Given the description of an element on the screen output the (x, y) to click on. 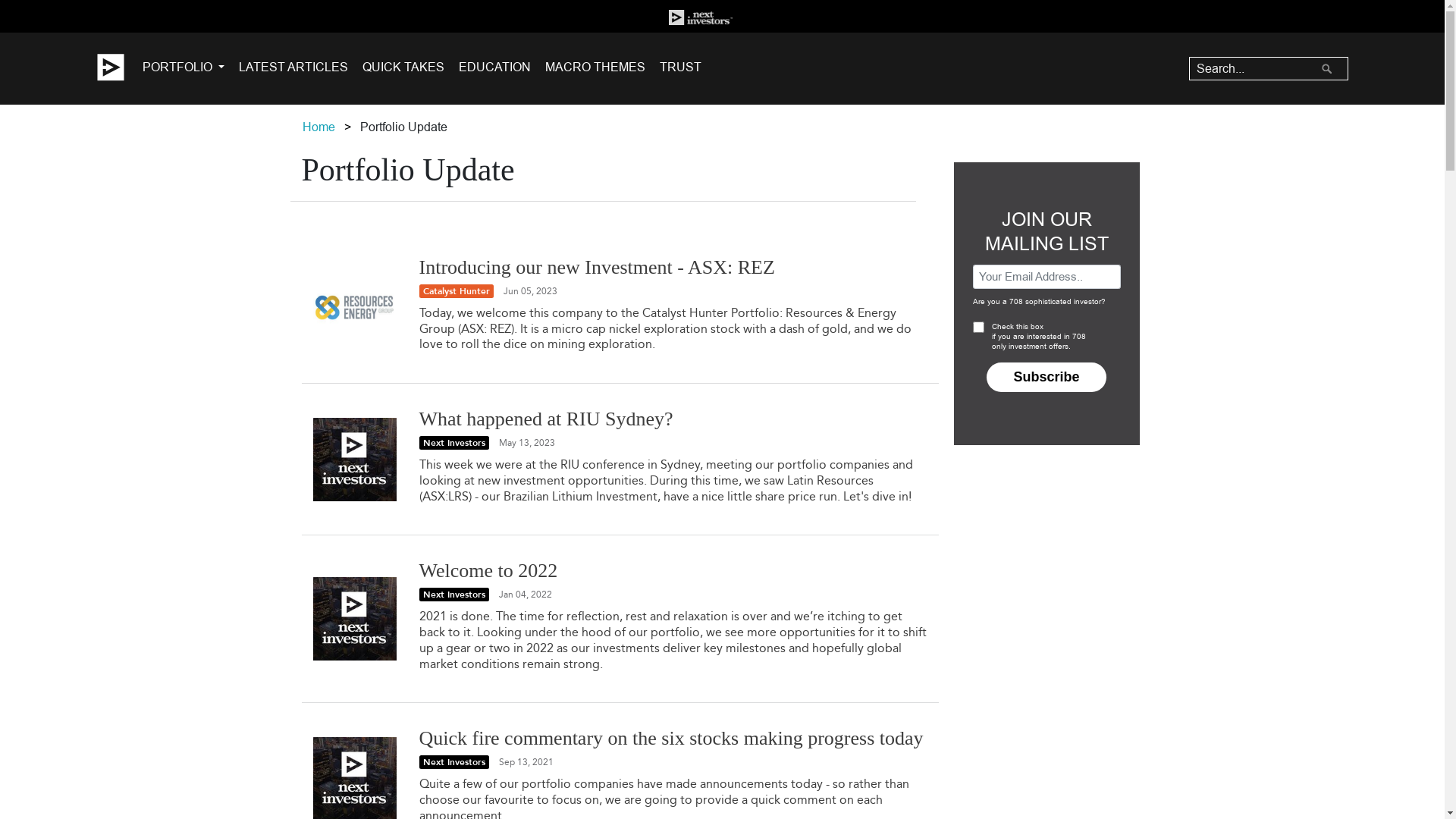
search Element type: text (1328, 70)
LATEST ARTICLES Element type: text (293, 68)
TRUST Element type: text (680, 68)
QUICK TAKES Element type: text (403, 68)
MACRO THEMES Element type: text (595, 68)
EDUCATION Element type: text (494, 68)
Home Element type: text (317, 126)
Subscribe Element type: text (1045, 377)
PORTFOLIO Element type: text (183, 68)
